Given the description of an element on the screen output the (x, y) to click on. 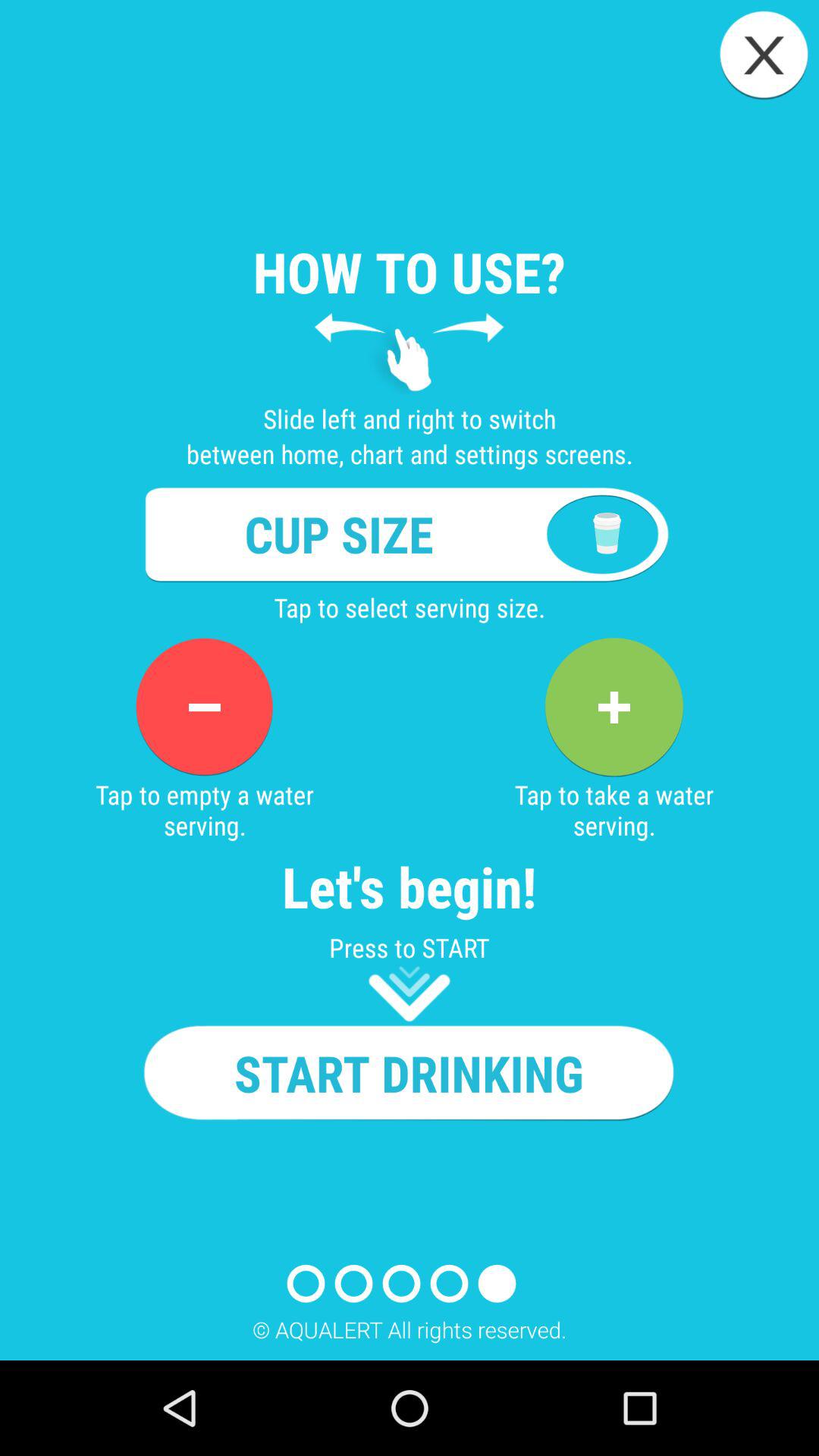
remove water serving (204, 706)
